Given the description of an element on the screen output the (x, y) to click on. 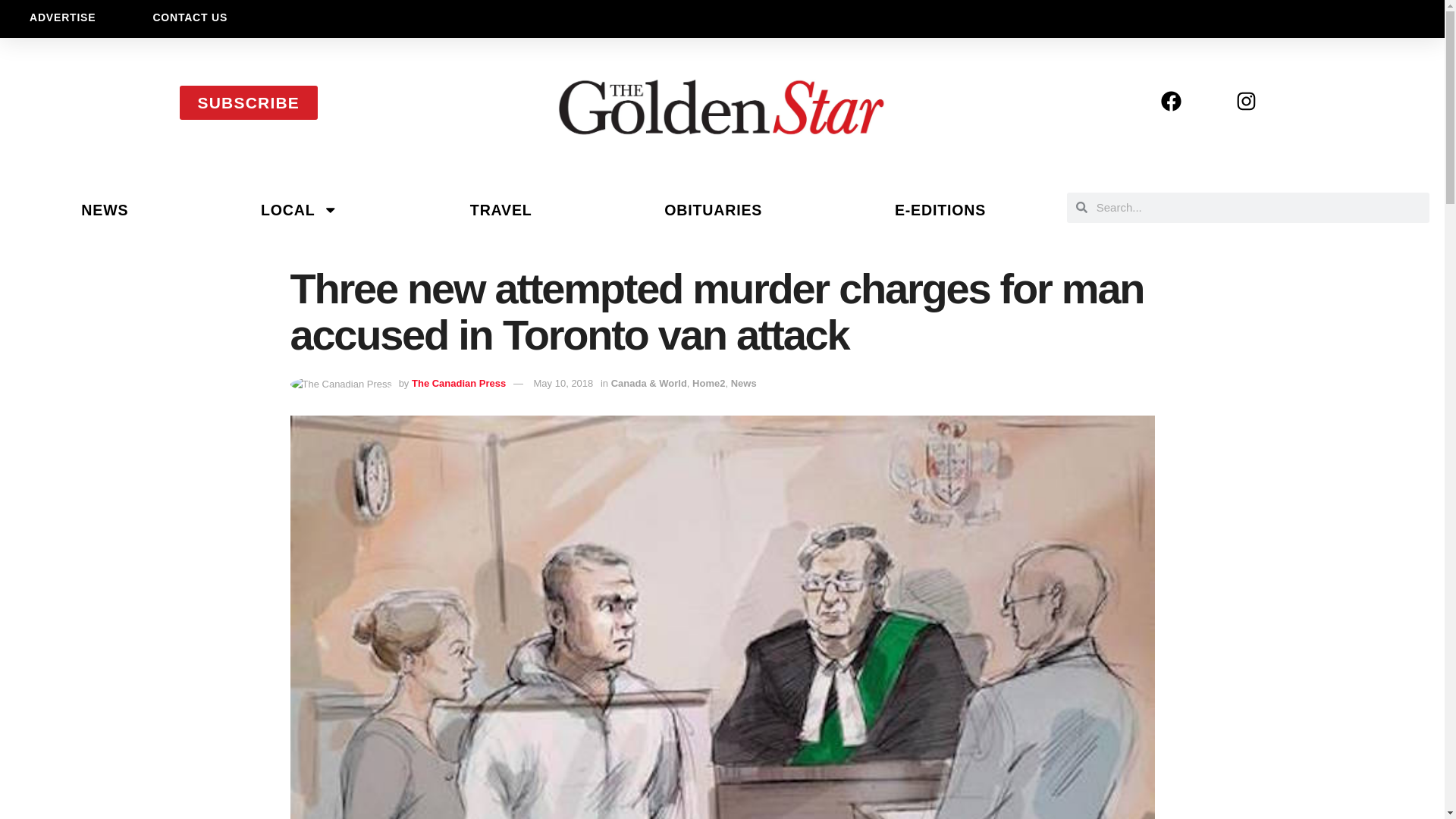
ADVERTISE (62, 17)
NEWS (104, 209)
LOCAL (299, 209)
The Canadian Press (458, 383)
E-EDITIONS (940, 209)
News (743, 383)
OBITUARIES (713, 209)
CONTACT US (189, 17)
Home2 (709, 383)
TRAVEL (499, 209)
